Given the description of an element on the screen output the (x, y) to click on. 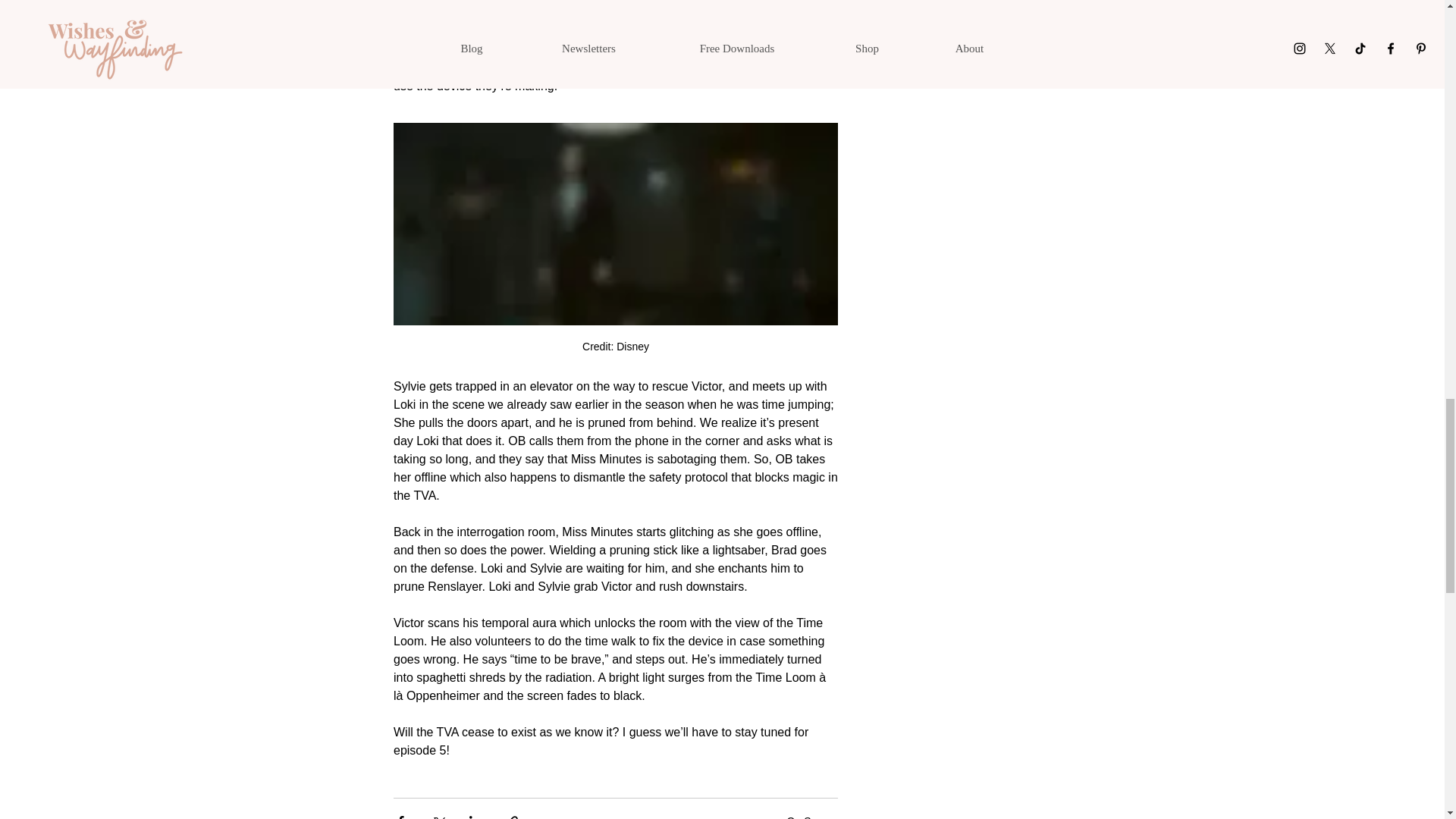
On Screen (812, 816)
